Given the description of an element on the screen output the (x, y) to click on. 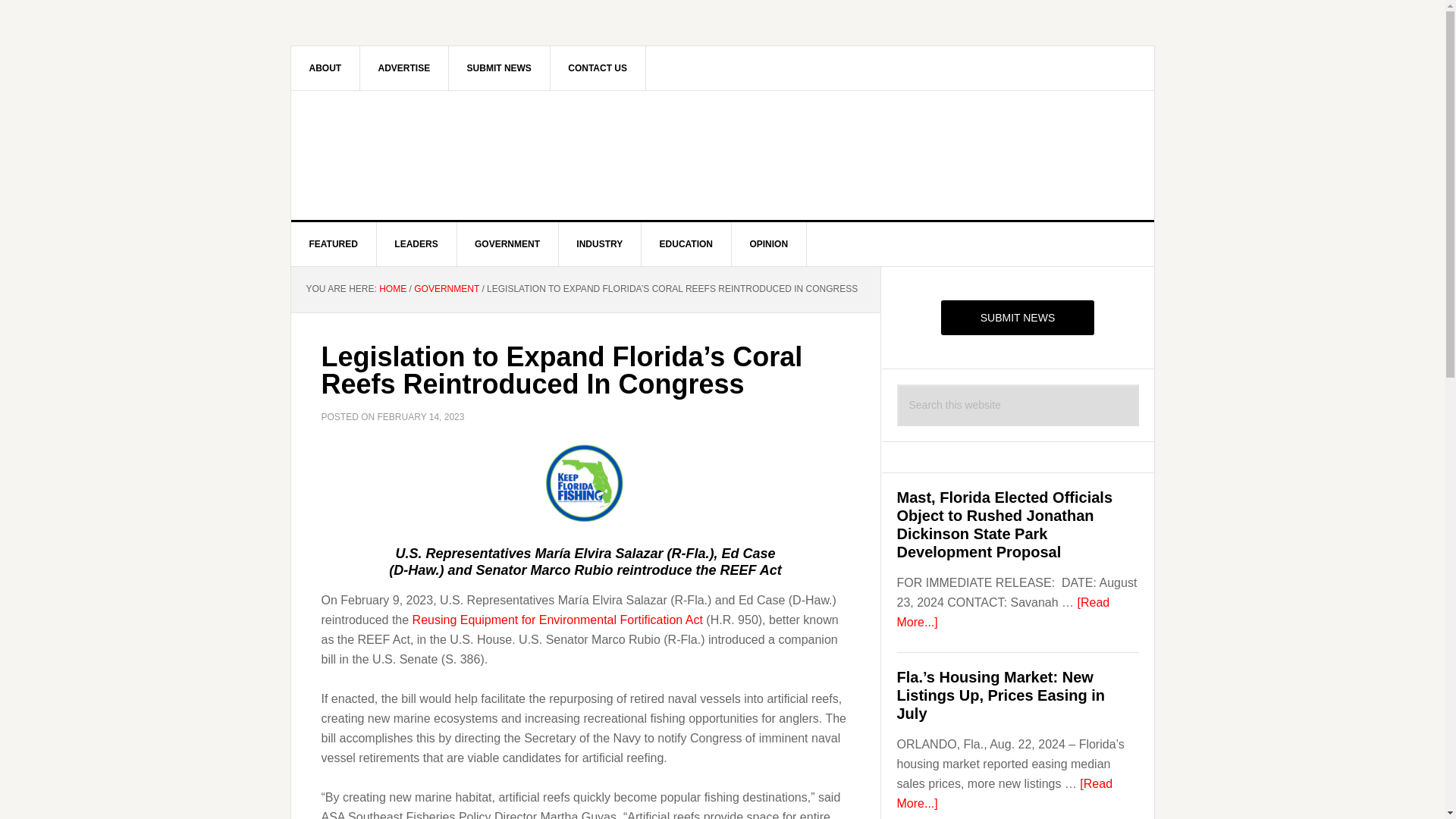
INDUSTRY (599, 243)
FEATURED (334, 243)
GOVERNMENT (446, 288)
ABOUT (326, 67)
EDUCATION (687, 243)
Reusing Equipment for Environmental Fortification Act (557, 619)
SUBMIT NEWS (499, 67)
